Given the description of an element on the screen output the (x, y) to click on. 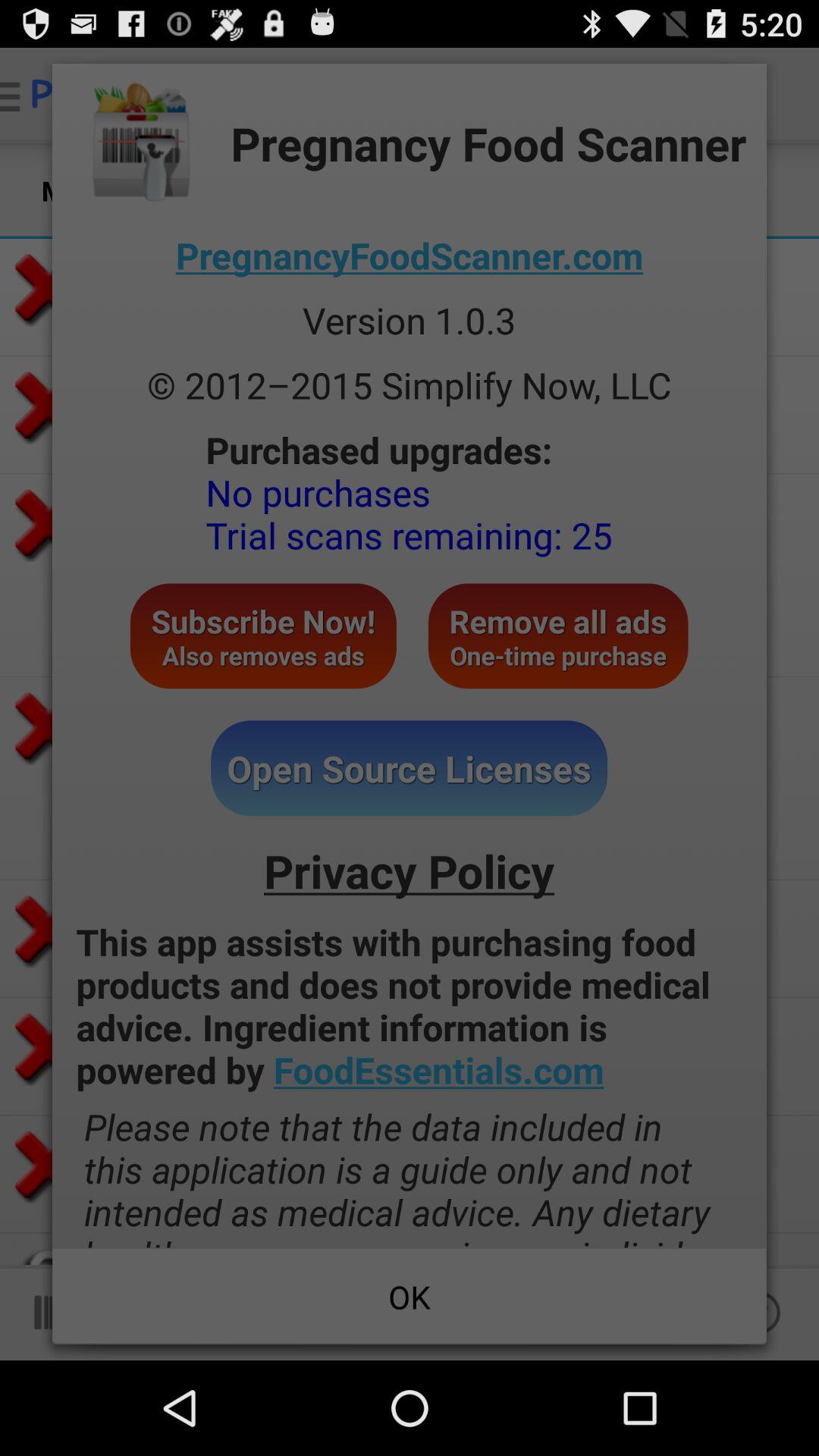
click the icon to the right of subscribe now also (558, 635)
